Given the description of an element on the screen output the (x, y) to click on. 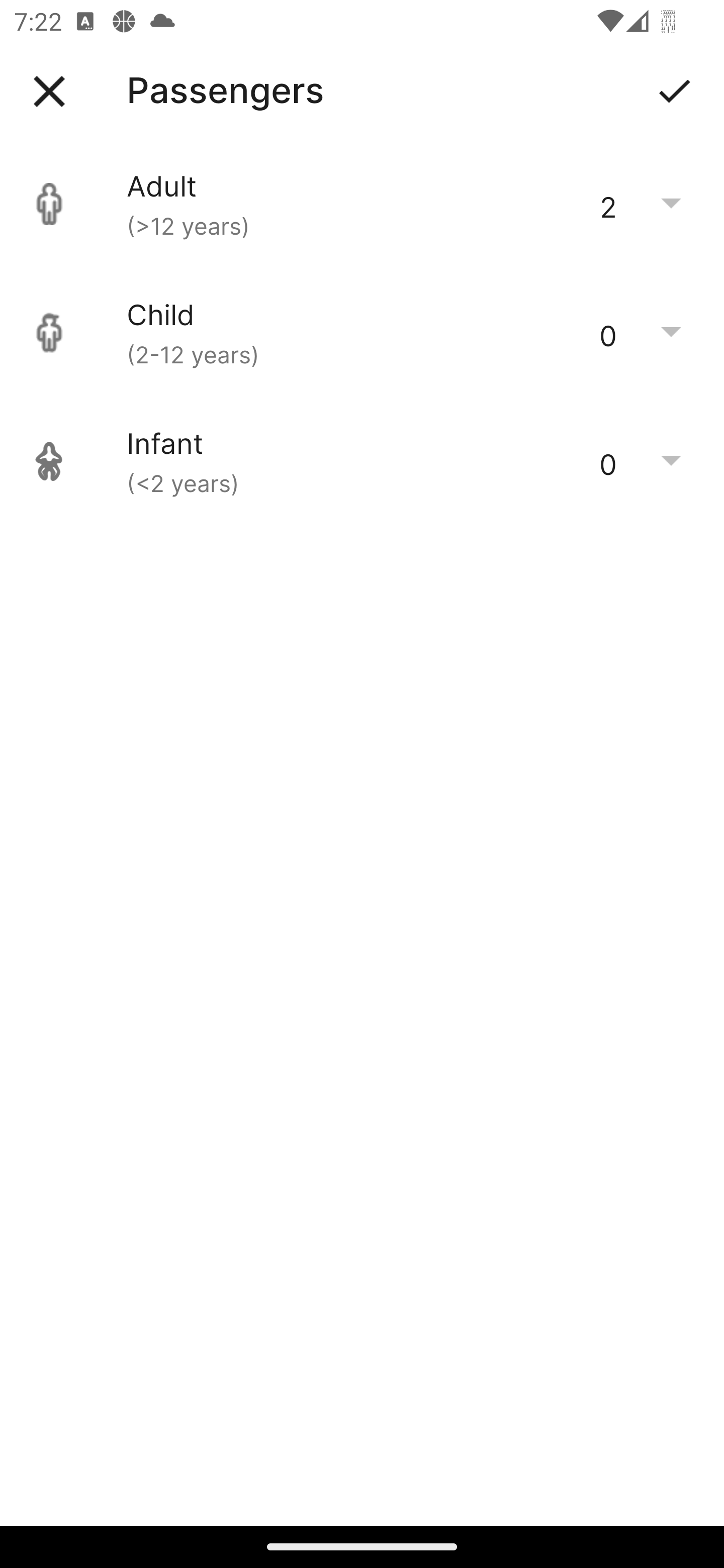
Adult (>12 years) 2 (362, 204)
Child (2-12 years) 0 (362, 332)
Infant (<2 years) 0 (362, 461)
